Given the description of an element on the screen output the (x, y) to click on. 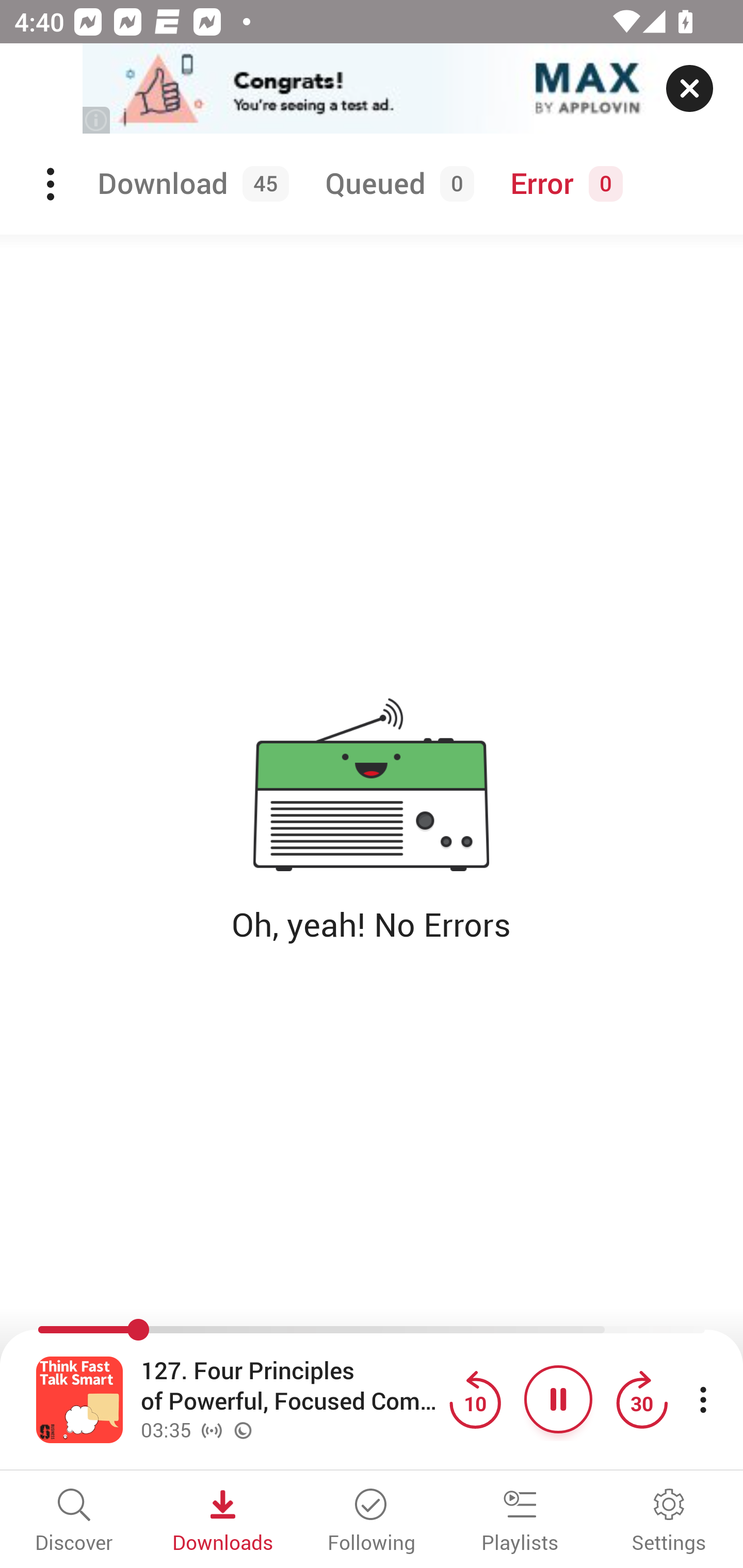
app-monetization (371, 88)
(i) (96, 119)
Menu (52, 184)
 Download 45 (189, 184)
 Queued 0 (396, 184)
 Error 0 (562, 184)
Open fullscreen player (79, 1399)
More player controls (703, 1399)
Pause button (558, 1398)
Jump back (475, 1399)
Jump forward (641, 1399)
Discover (74, 1521)
Downloads (222, 1521)
Following (371, 1521)
Playlists (519, 1521)
Settings (668, 1521)
